Given the description of an element on the screen output the (x, y) to click on. 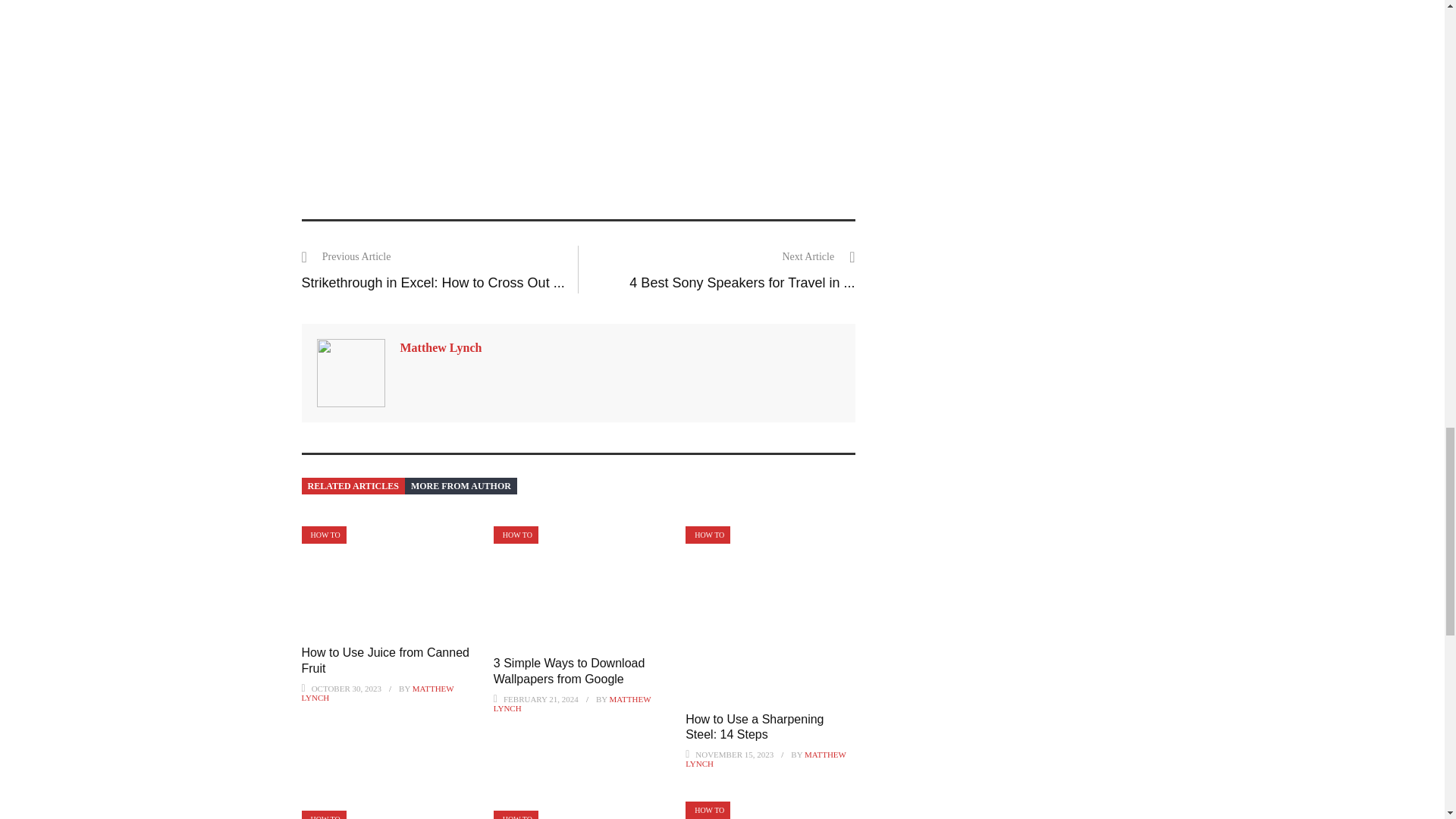
Advertisement (578, 94)
